Given the description of an element on the screen output the (x, y) to click on. 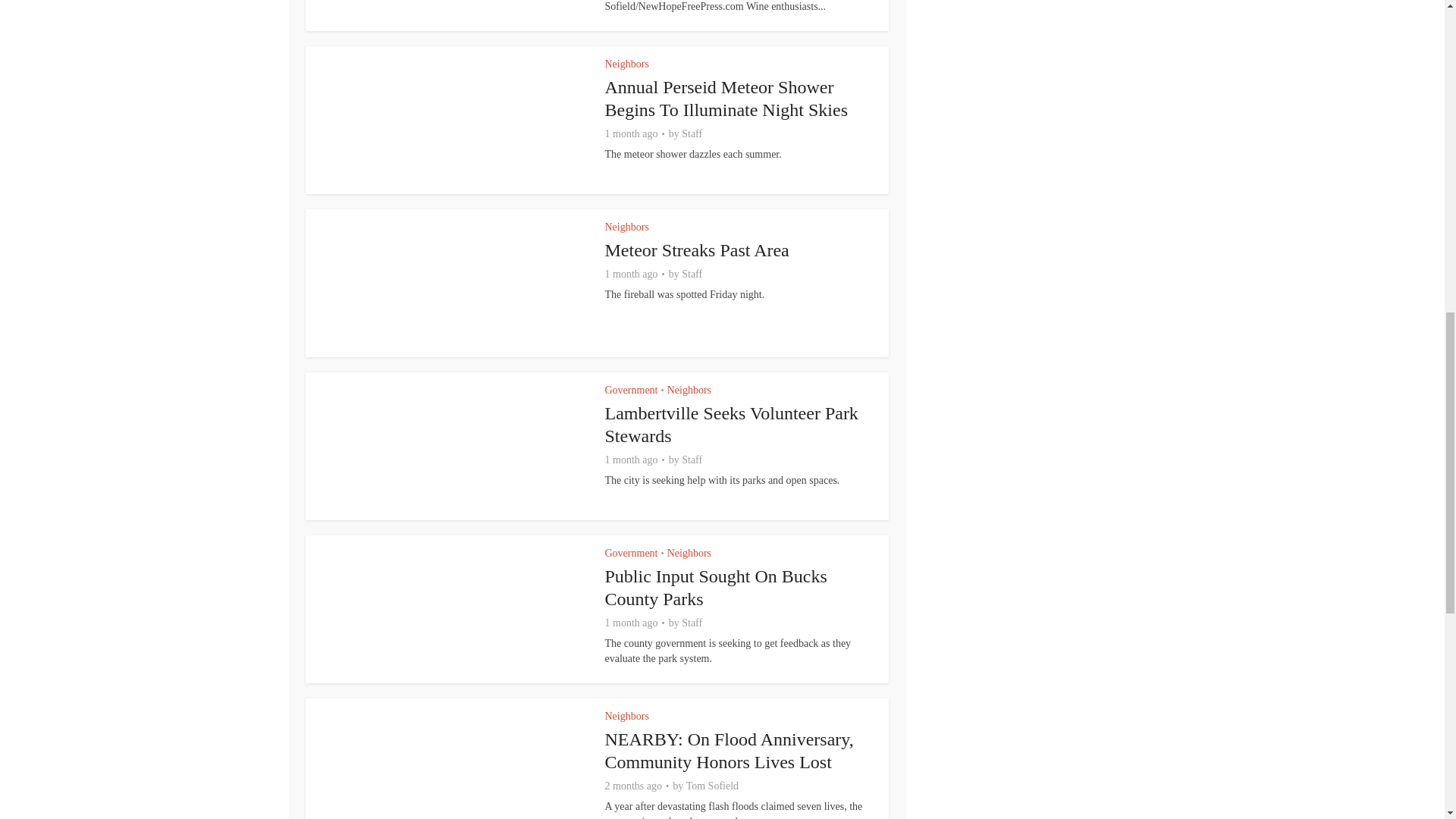
Neighbors (627, 226)
Meteor Streaks Past Area (697, 250)
Lambertville Seeks Volunteer Park Stewards (732, 424)
Neighbors (627, 63)
Public Input Sought On Bucks County Parks (716, 587)
Meteor Streaks Past Area (697, 250)
Government (631, 389)
Neighbors (688, 389)
Staff (691, 274)
